Given the description of an element on the screen output the (x, y) to click on. 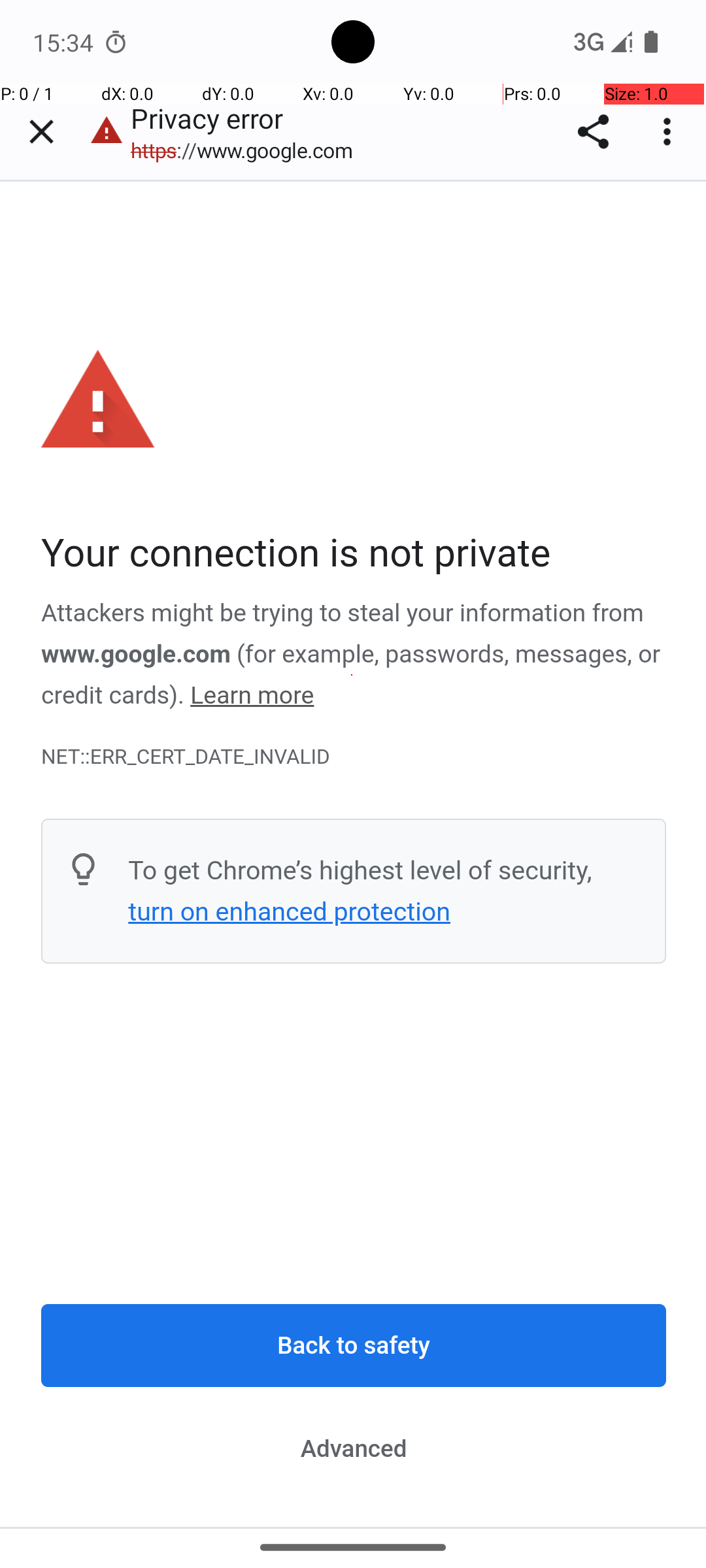
https://www.google.com Element type: android.widget.TextView (248, 149)
